Given the description of an element on the screen output the (x, y) to click on. 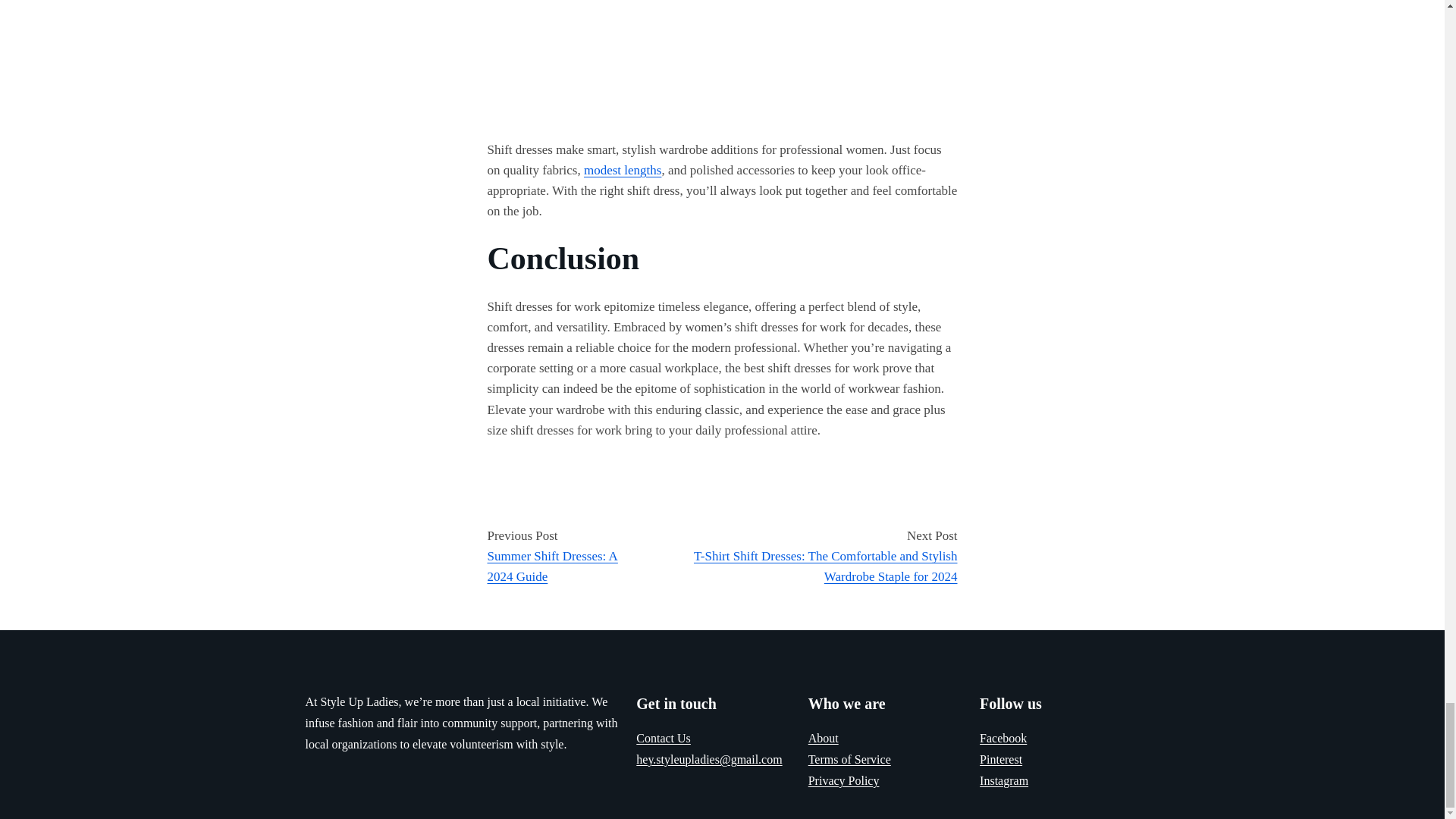
Summer Shift Dresses: A 2024 Guide (551, 565)
modest lengths (622, 169)
